Given the description of an element on the screen output the (x, y) to click on. 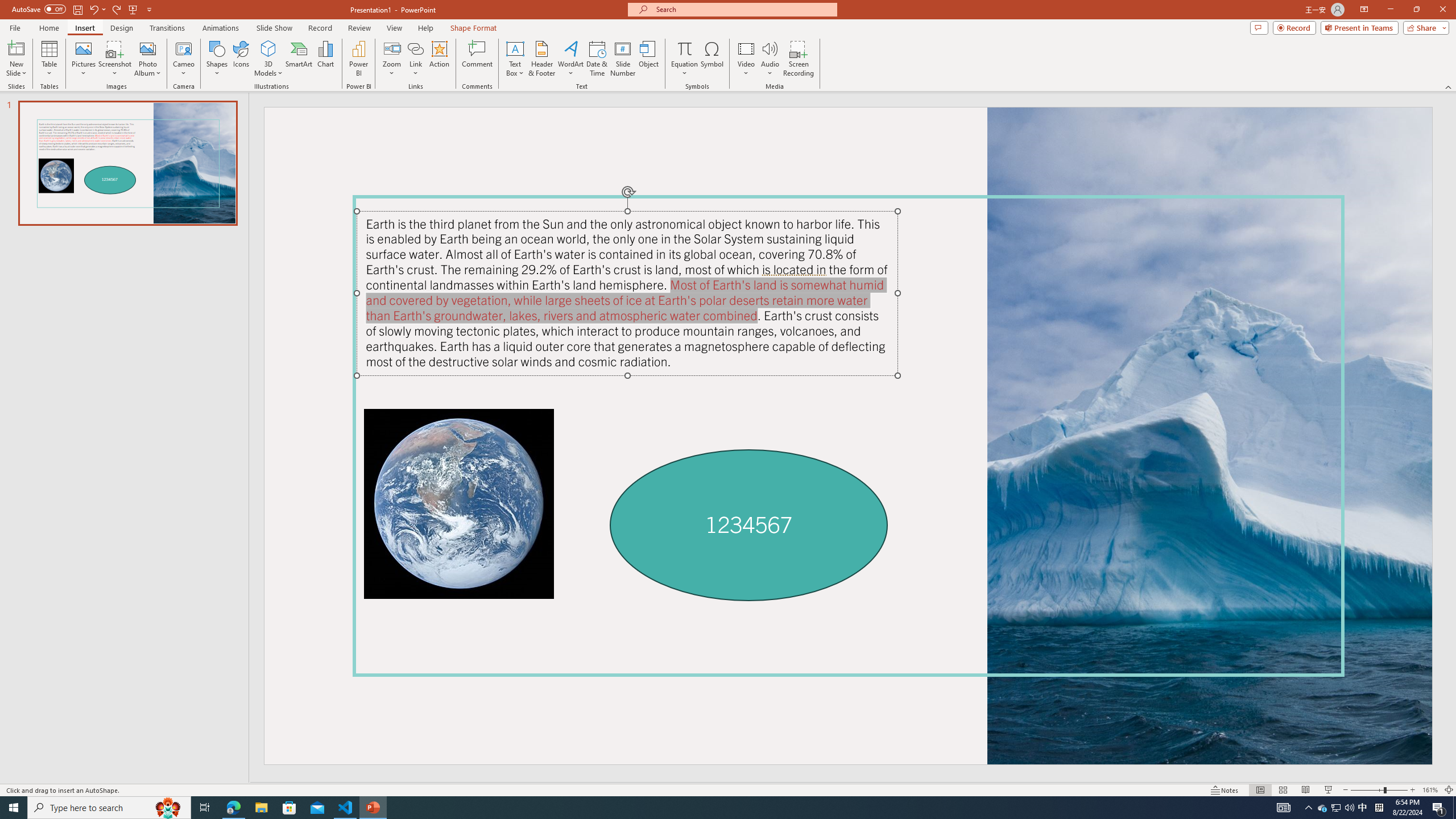
Pictures (83, 58)
Date & Time... (596, 58)
New Photo Album... (147, 48)
